Given the description of an element on the screen output the (x, y) to click on. 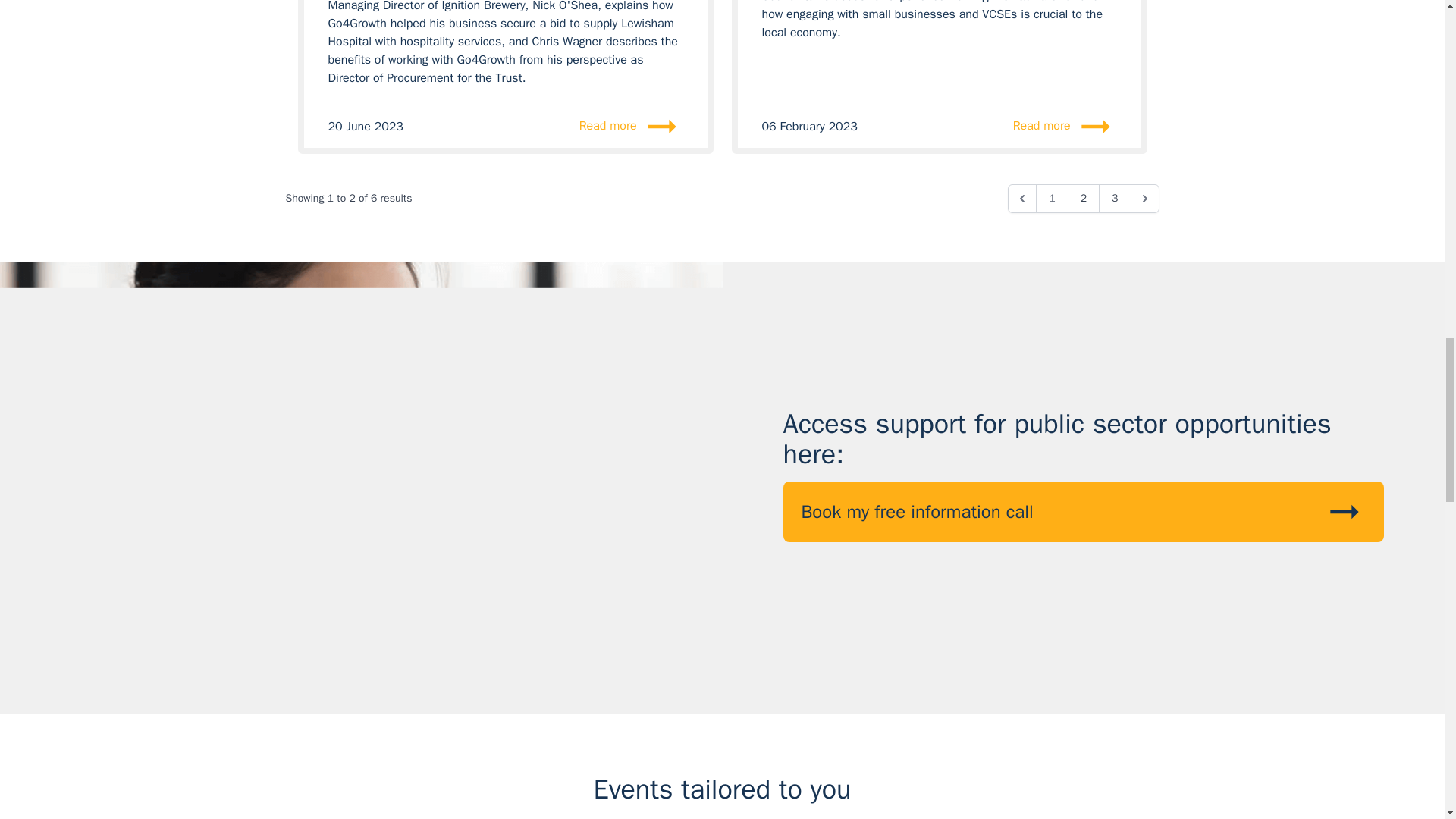
3 (1115, 198)
Read more (593, 126)
Read more (1027, 126)
Book my free information call (1082, 511)
2 (1083, 198)
